Given the description of an element on the screen output the (x, y) to click on. 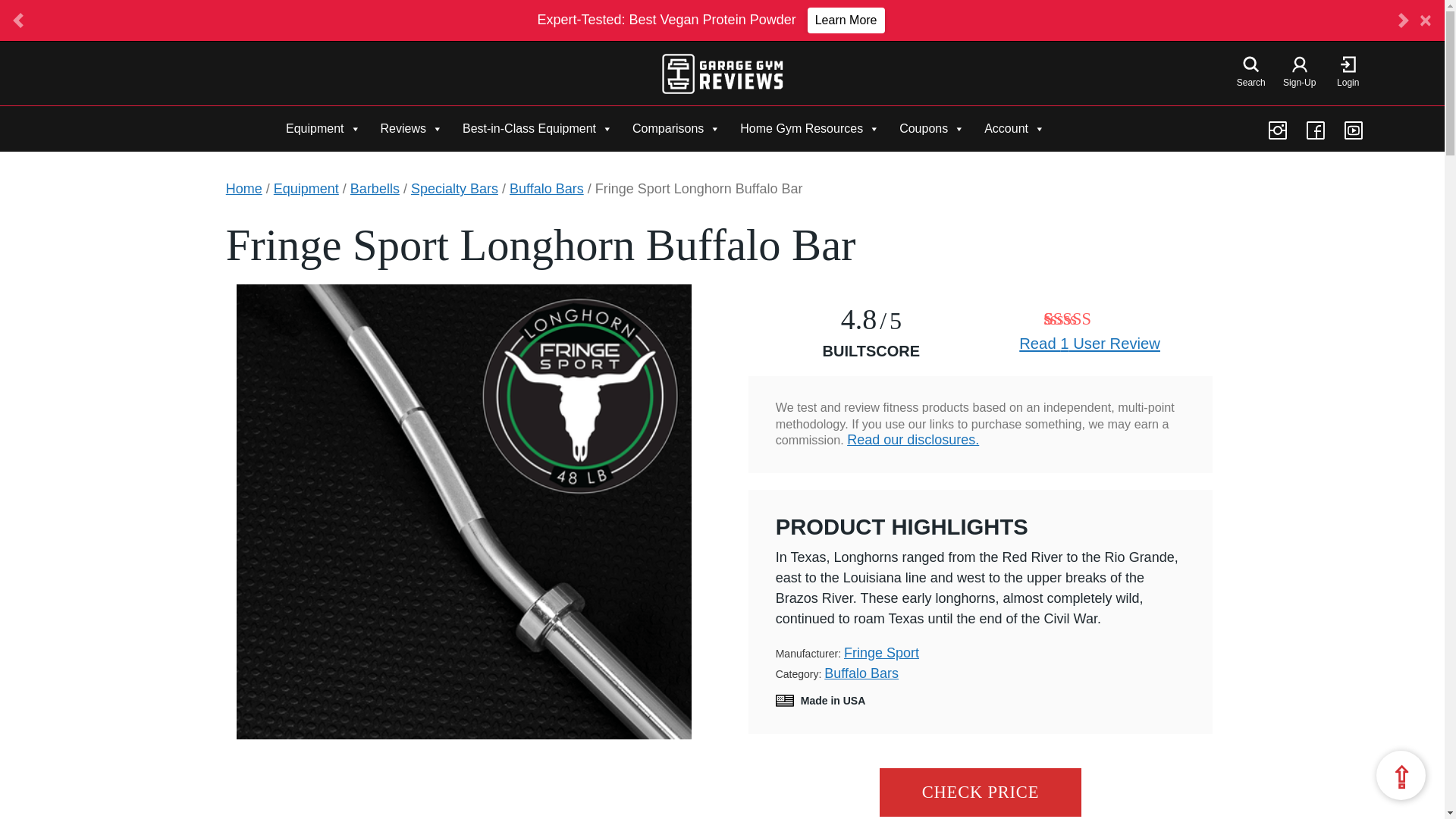
Next (1403, 20)
Learn More (846, 20)
Sign-Up (1299, 73)
Expert-Tested: Best Vegan Protein Powder Learn More (710, 20)
Equipment (323, 128)
Login (1348, 73)
Search (1251, 73)
Previous (18, 20)
